Given the description of an element on the screen output the (x, y) to click on. 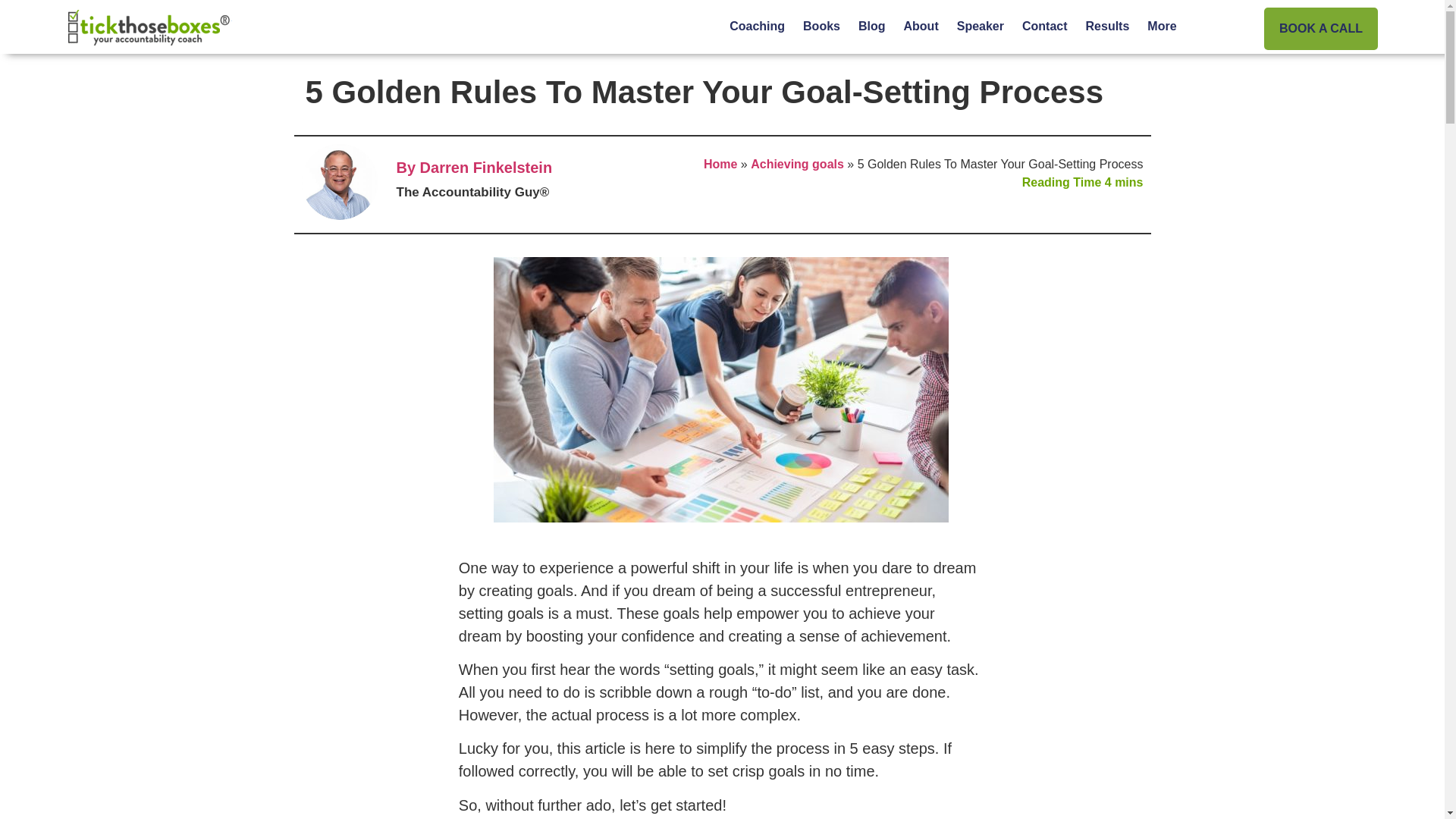
Books (820, 26)
Contact (1045, 26)
BOOK A CALL (1320, 28)
Blog (871, 26)
More (1161, 26)
610250c259d05 (721, 389)
About (921, 26)
Results (1107, 26)
Coaching (756, 26)
Speaker (980, 26)
